Given the description of an element on the screen output the (x, y) to click on. 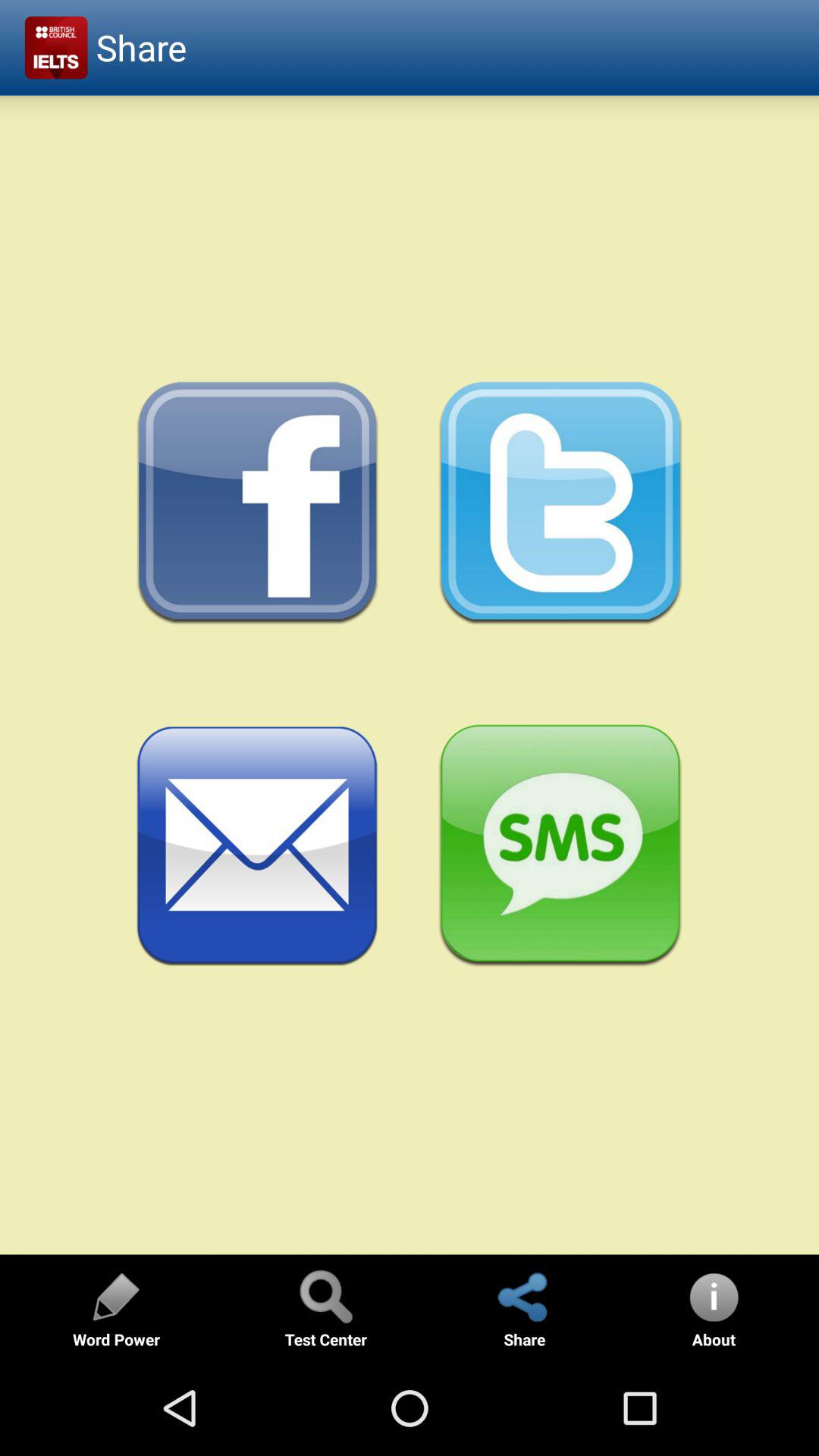
open email (257, 846)
